Given the description of an element on the screen output the (x, y) to click on. 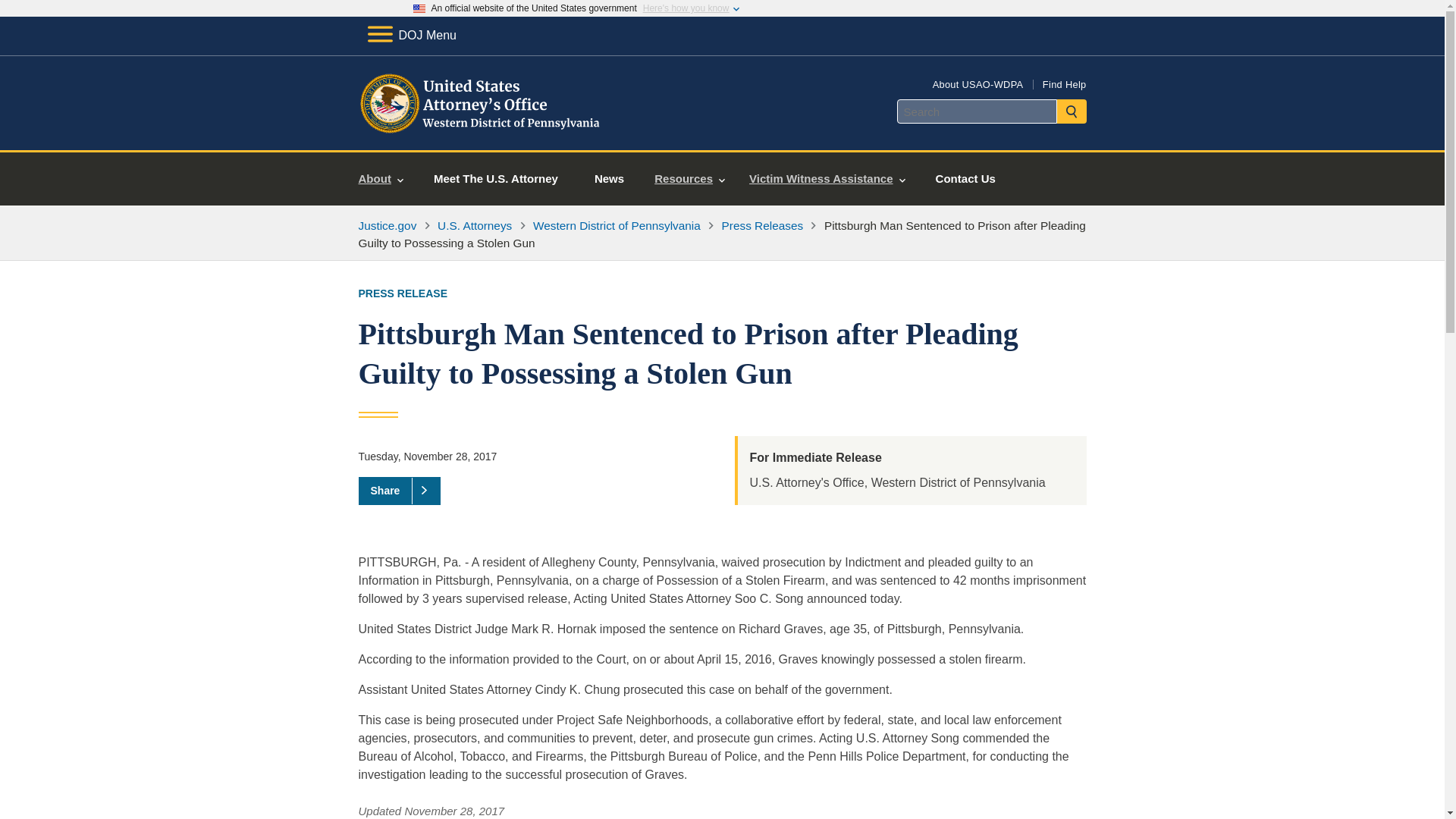
Contact Us (965, 179)
Press Releases (762, 225)
About USAO-WDPA (978, 84)
News (609, 179)
Resources (689, 179)
U.S. Attorneys (475, 225)
Find Help (1064, 84)
Justice.gov (387, 225)
Western District of Pennsylvania (616, 225)
About (380, 179)
